Given the description of an element on the screen output the (x, y) to click on. 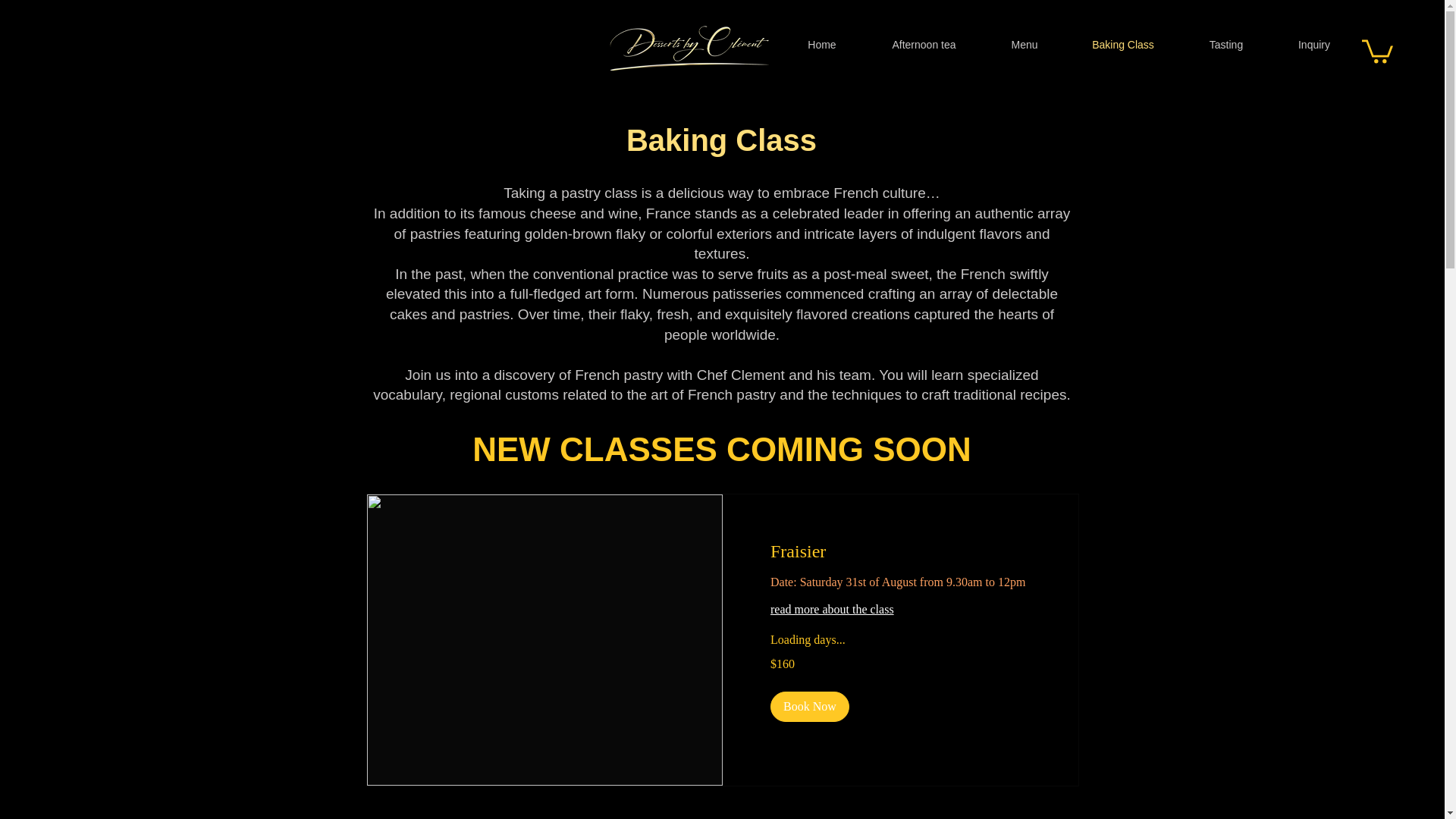
Menu (1024, 44)
Tasting (1225, 44)
Baking Class (1122, 44)
Afternoon tea (923, 44)
Fraisier (900, 551)
Inquiry (1313, 44)
Book Now (809, 706)
read more about the class (900, 609)
Home (821, 44)
